Given the description of an element on the screen output the (x, y) to click on. 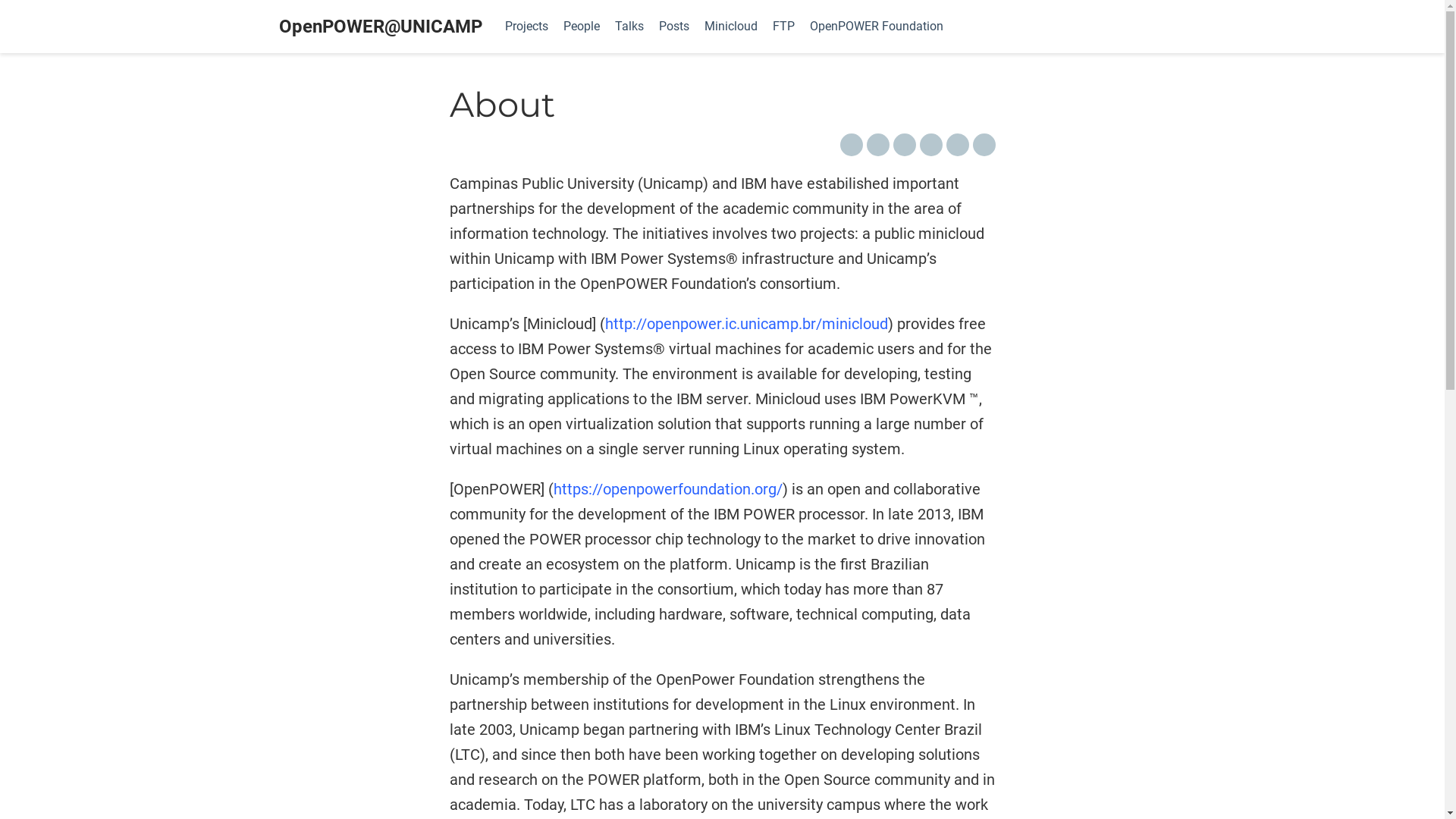
OpenPOWER Foundation Element type: text (876, 26)
People Element type: text (580, 26)
FTP Element type: text (782, 26)
Posts Element type: text (673, 26)
http://openpower.ic.unicamp.br/minicloud Element type: text (746, 323)
OpenPOWER@UNICAMP Element type: text (380, 26)
Projects Element type: text (526, 26)
Minicloud Element type: text (730, 26)
https://openpowerfoundation.org/ Element type: text (667, 489)
Talks Element type: text (628, 26)
